Given the description of an element on the screen output the (x, y) to click on. 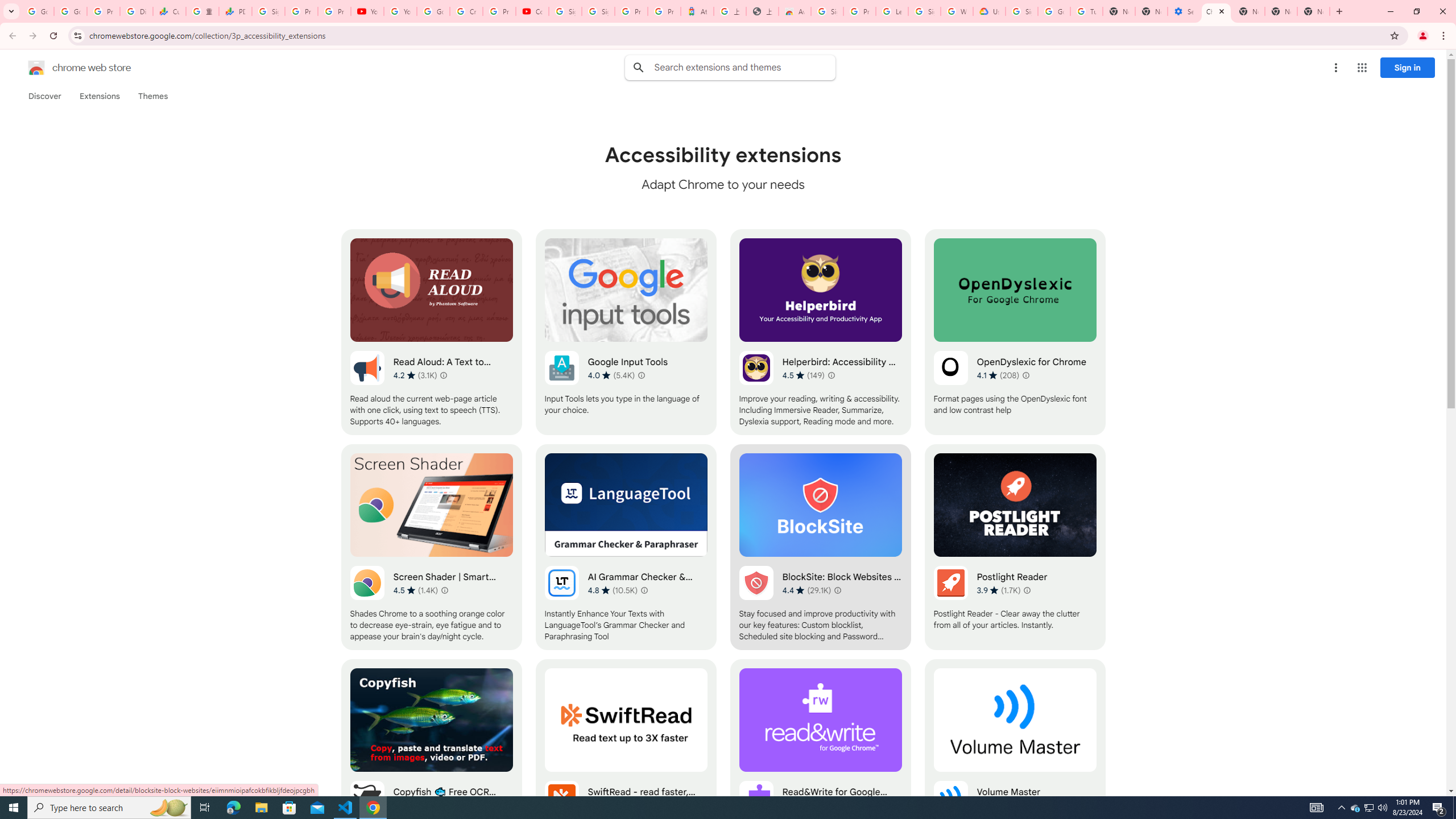
Discover (43, 95)
Postlight Reader (1014, 546)
Currencies - Google Finance (169, 11)
Sign in - Google Accounts (1021, 11)
New Tab (1313, 11)
Content Creator Programs & Opportunities - YouTube Creators (532, 11)
Sign in - Google Accounts (598, 11)
Sign in - Google Accounts (924, 11)
Google Account Help (433, 11)
